Given the description of an element on the screen output the (x, y) to click on. 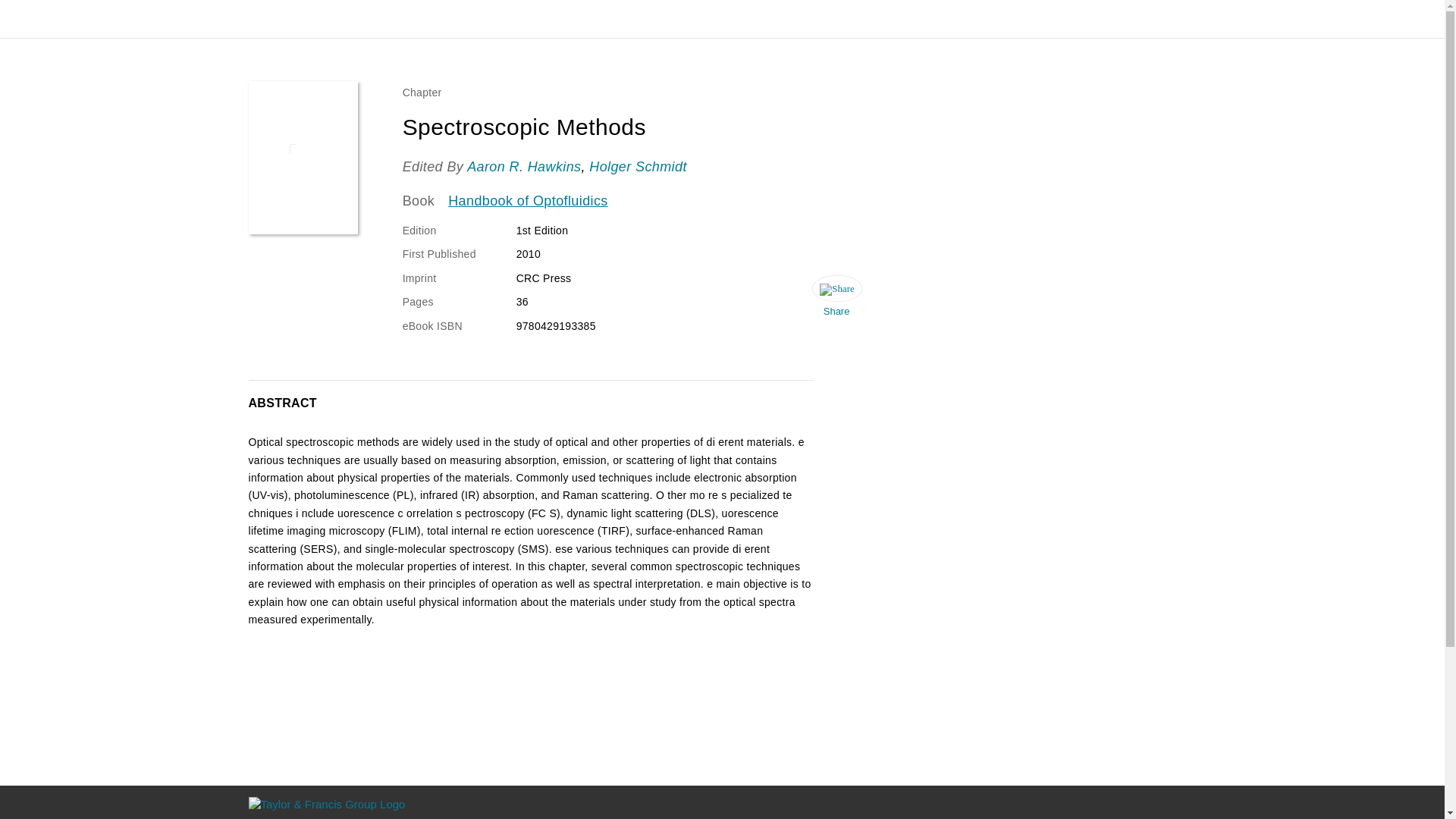
Aaron R. Hawkins (523, 166)
Handbook of Optofluidics (527, 201)
Holger Schmidt (638, 166)
Share (836, 299)
